Given the description of an element on the screen output the (x, y) to click on. 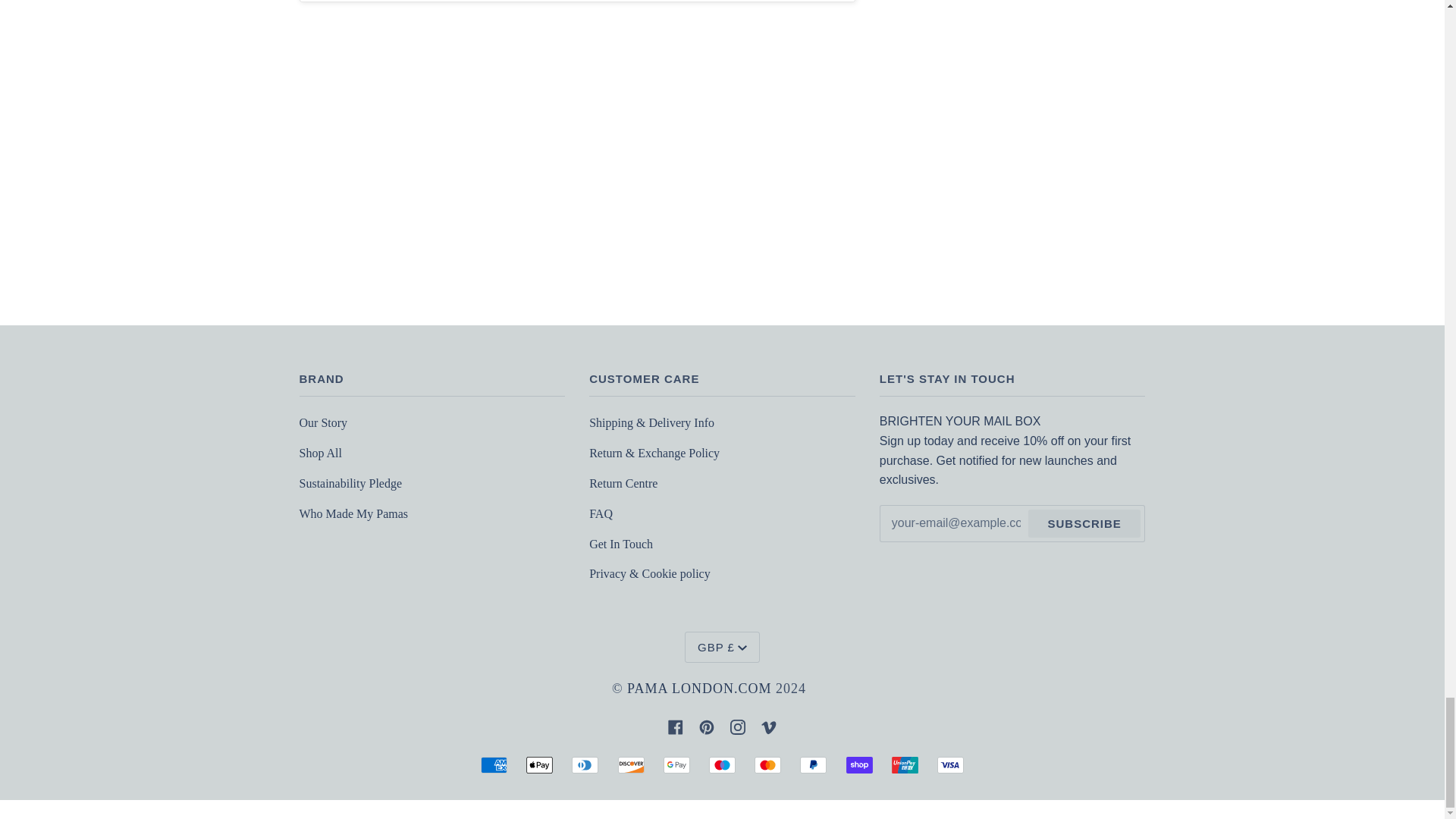
Vimeo (768, 725)
Facebook (675, 725)
APPLE PAY (539, 764)
DISCOVER (631, 764)
Pinterest (706, 725)
Instagram (737, 725)
DINERS CLUB (585, 764)
PAYPAL (813, 764)
MAESTRO (722, 764)
GOOGLE PAY (676, 764)
MASTERCARD (767, 764)
VISA (950, 764)
SHOP PAY (858, 764)
UNION PAY (904, 764)
AMERICAN EXPRESS (493, 764)
